Given the description of an element on the screen output the (x, y) to click on. 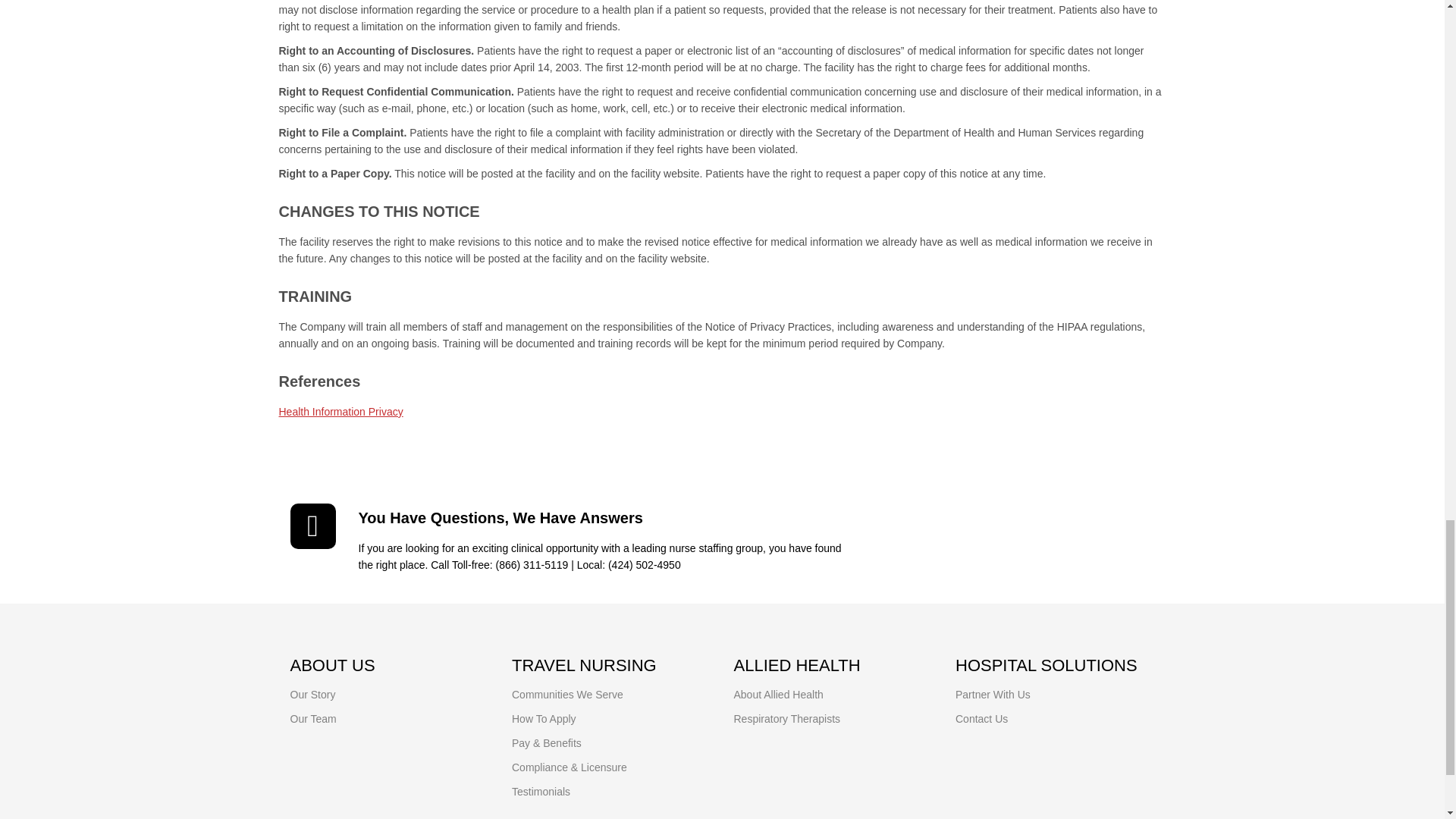
About Allied Health (778, 694)
Testimonials (541, 791)
Health Information Privacy (341, 411)
How To Apply (544, 718)
Partner With Us (992, 694)
Our Team (312, 718)
Contact Us (981, 718)
Communities We Serve (567, 694)
Respiratory Therapists (787, 718)
Our Story (311, 694)
